Given the description of an element on the screen output the (x, y) to click on. 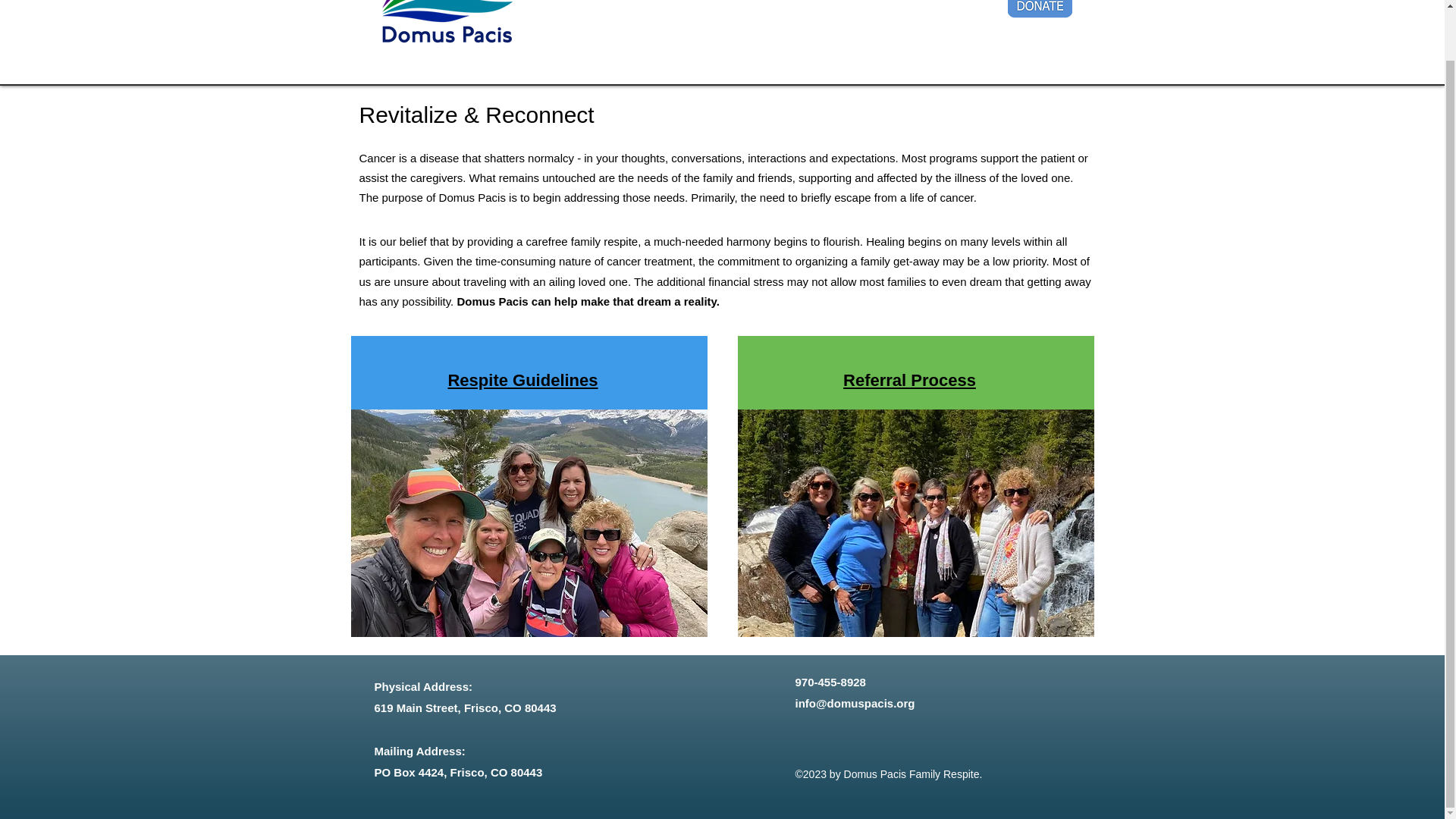
Donate.png (1039, 10)
Referral Process (909, 380)
Respite Guidelines (521, 380)
